Given the description of an element on the screen output the (x, y) to click on. 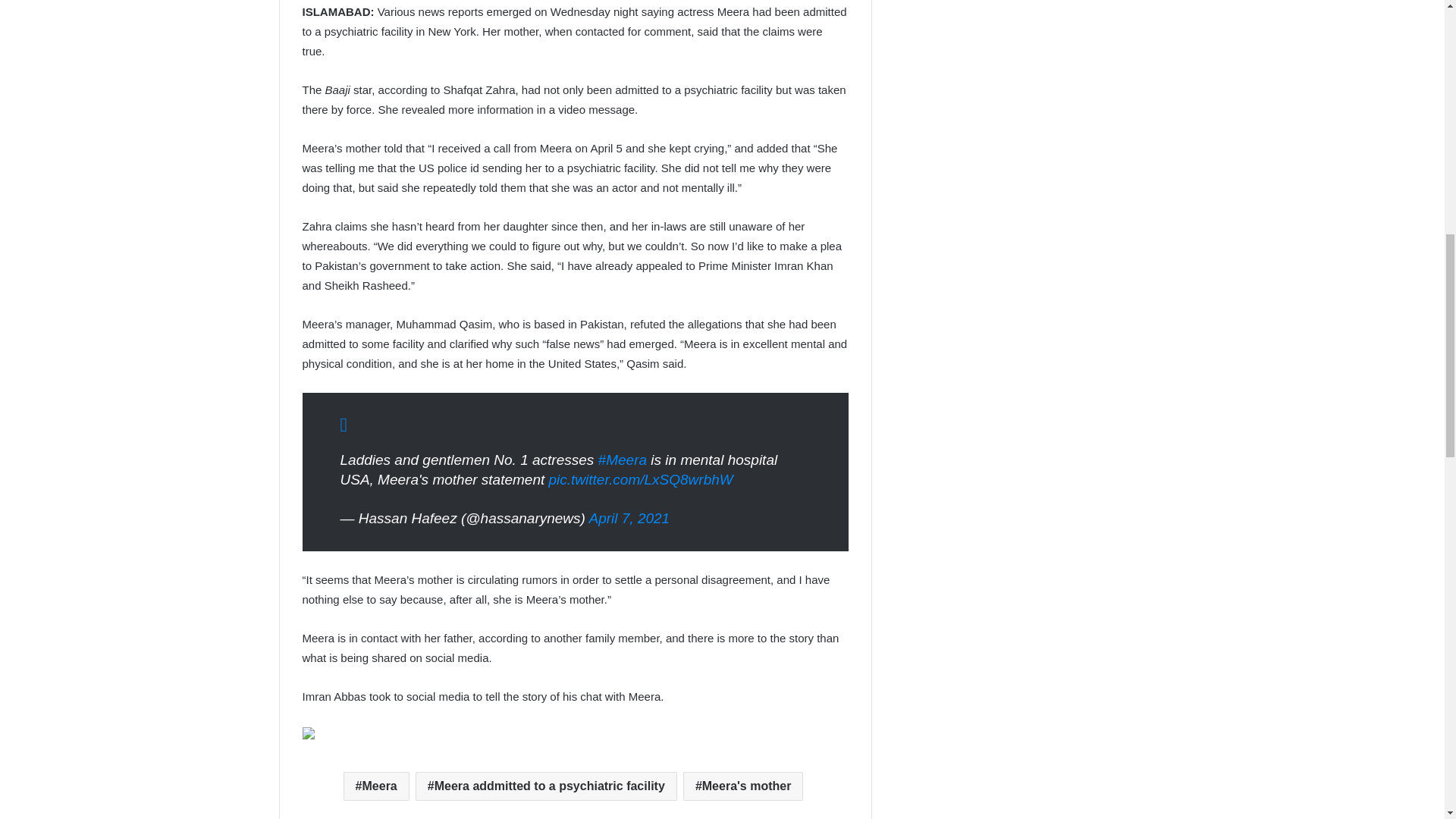
Meera (376, 786)
April 7, 2021 (628, 518)
Meera's mother (742, 786)
Meera addmitted to a psychiatric facility (545, 786)
